Given the description of an element on the screen output the (x, y) to click on. 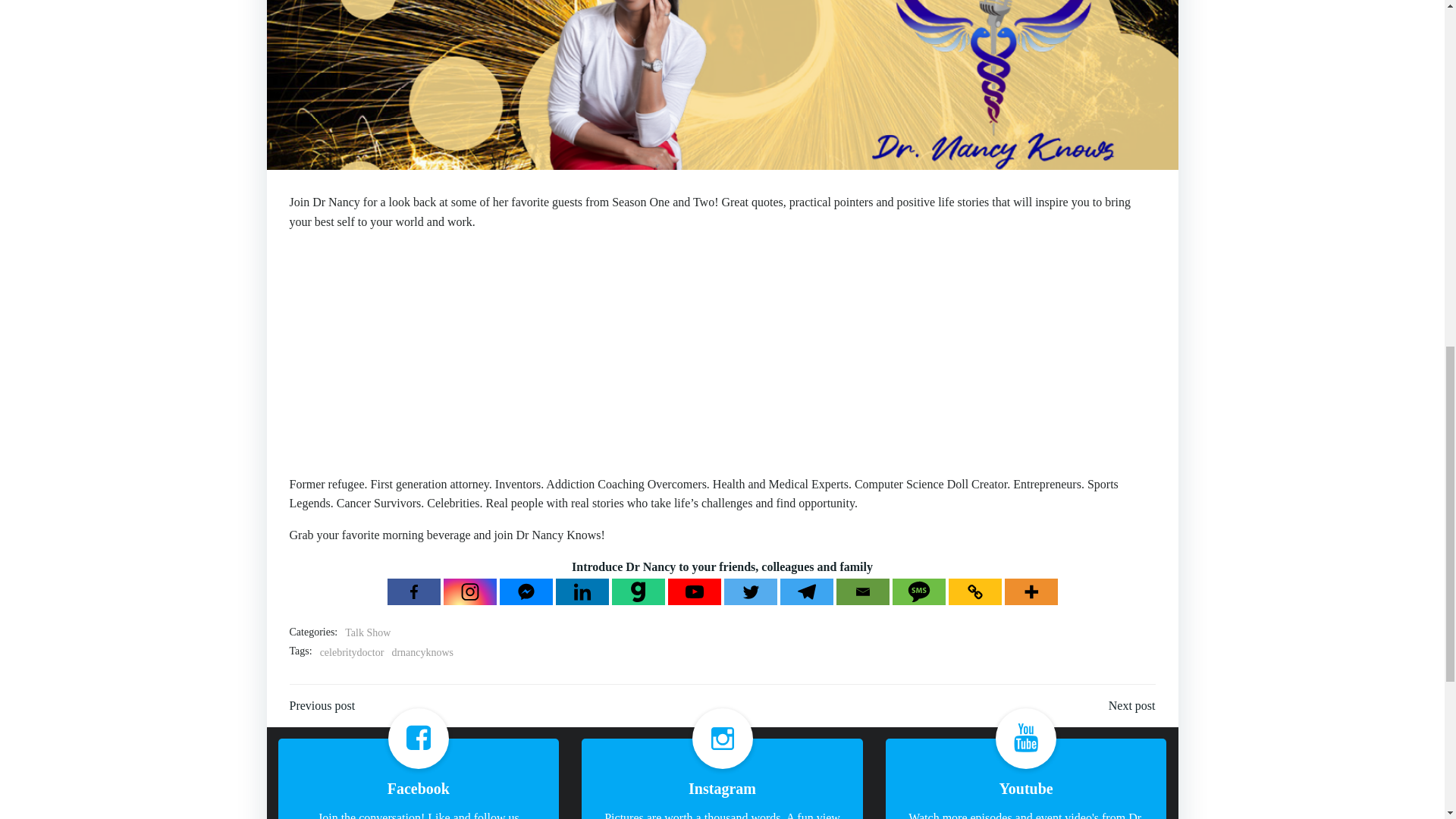
Gab (637, 591)
Talk Show (367, 632)
Facebook (413, 591)
Copy Link (974, 591)
SMS (917, 591)
drnancyknows Tag (421, 652)
Telegram (805, 591)
Twitter (749, 591)
Email (861, 591)
celebritydoctor (352, 652)
